Given the description of an element on the screen output the (x, y) to click on. 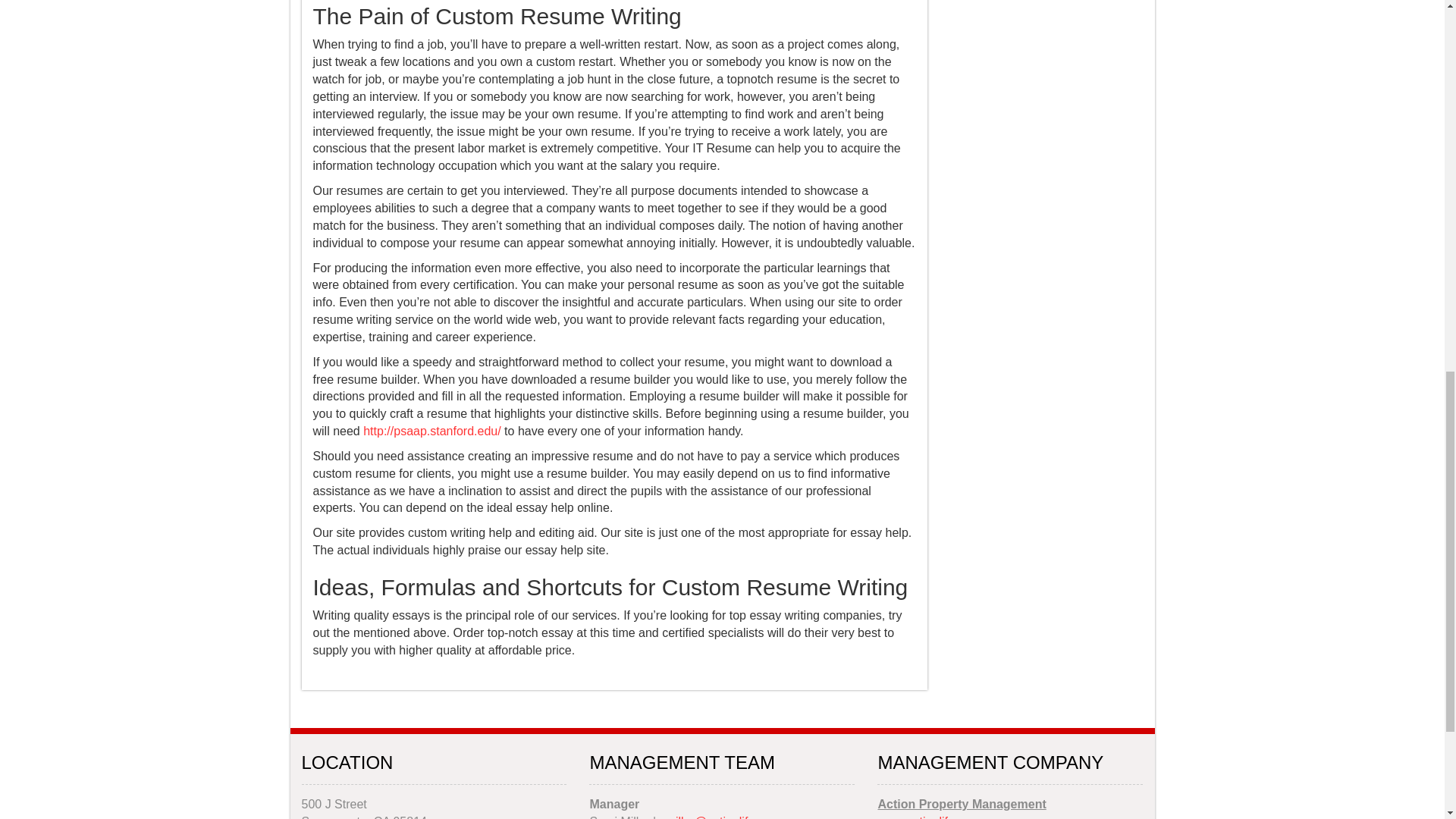
www.actionlife.com (928, 816)
